Given the description of an element on the screen output the (x, y) to click on. 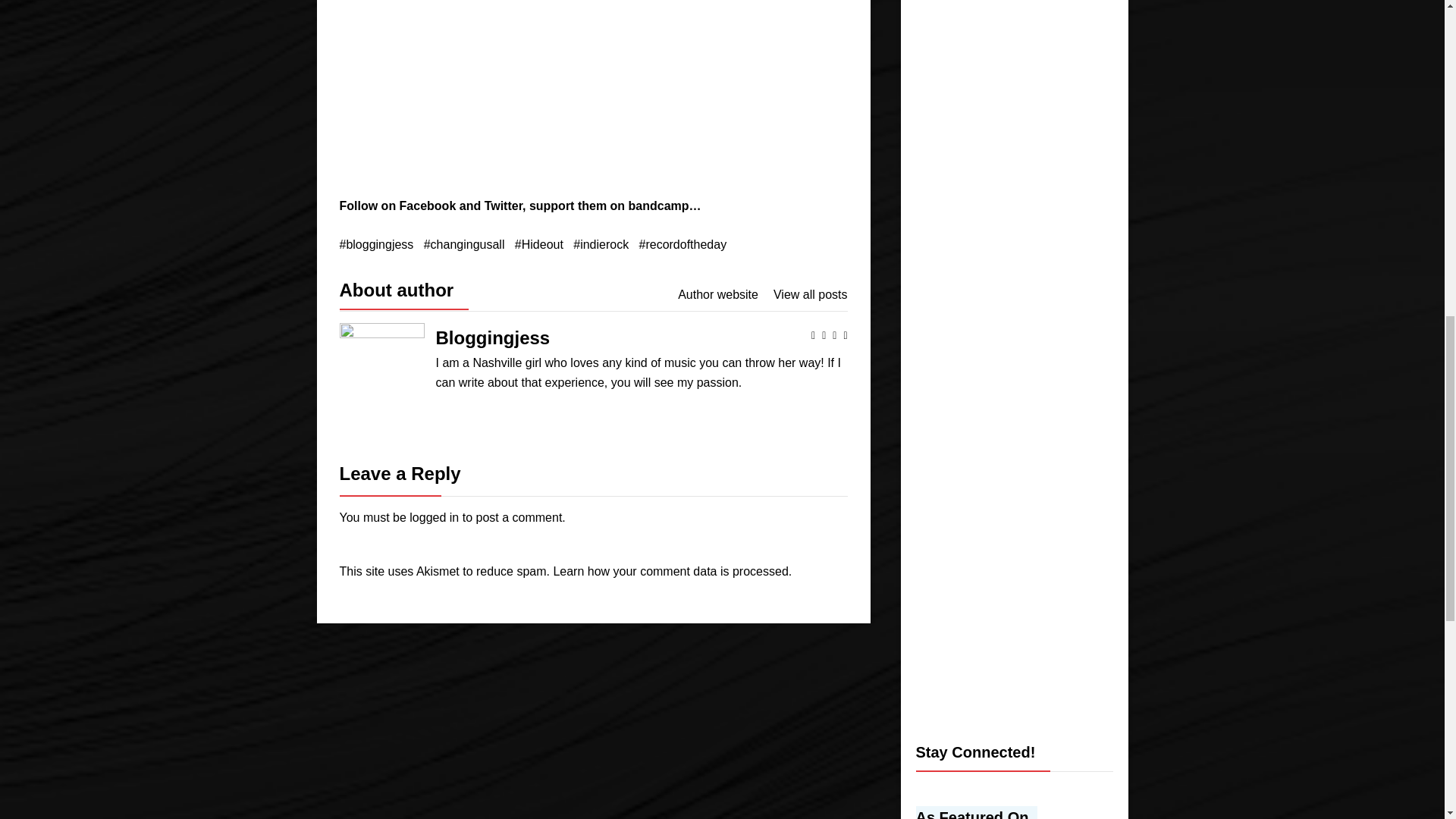
Hideout (539, 244)
HYPE MACHINE (979, 812)
View all posts (810, 294)
logged in (433, 517)
Twitter (503, 205)
Author website (718, 294)
changingusall (464, 244)
indierock (600, 244)
Learn how your comment data is processed (670, 571)
bandcamp (658, 205)
